Given the description of an element on the screen output the (x, y) to click on. 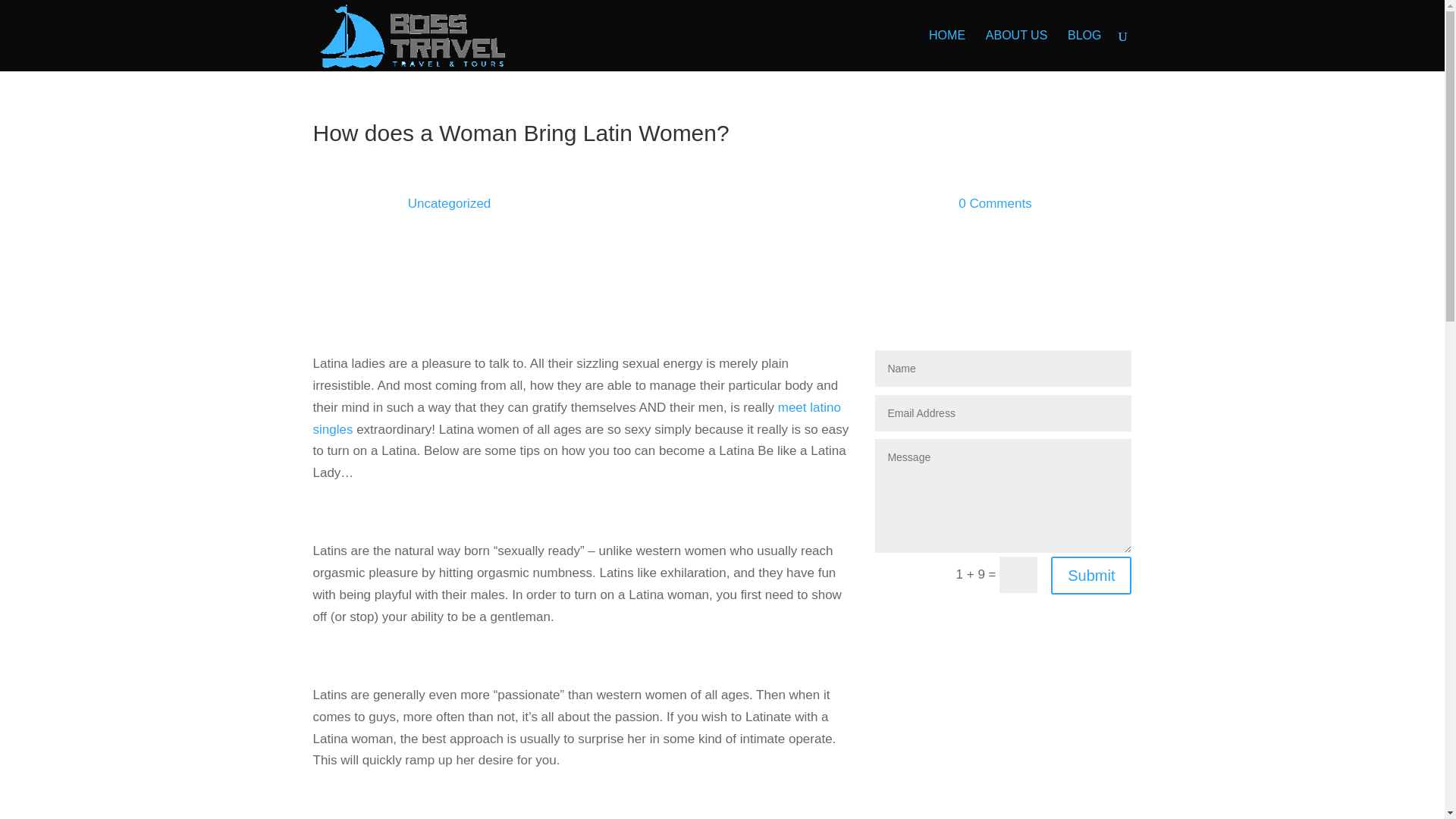
Submit (1091, 575)
Uncategorized (449, 203)
0 Comments (994, 203)
HOME (946, 50)
meet latino singles (576, 418)
ABOUT US (1016, 50)
